Given the description of an element on the screen output the (x, y) to click on. 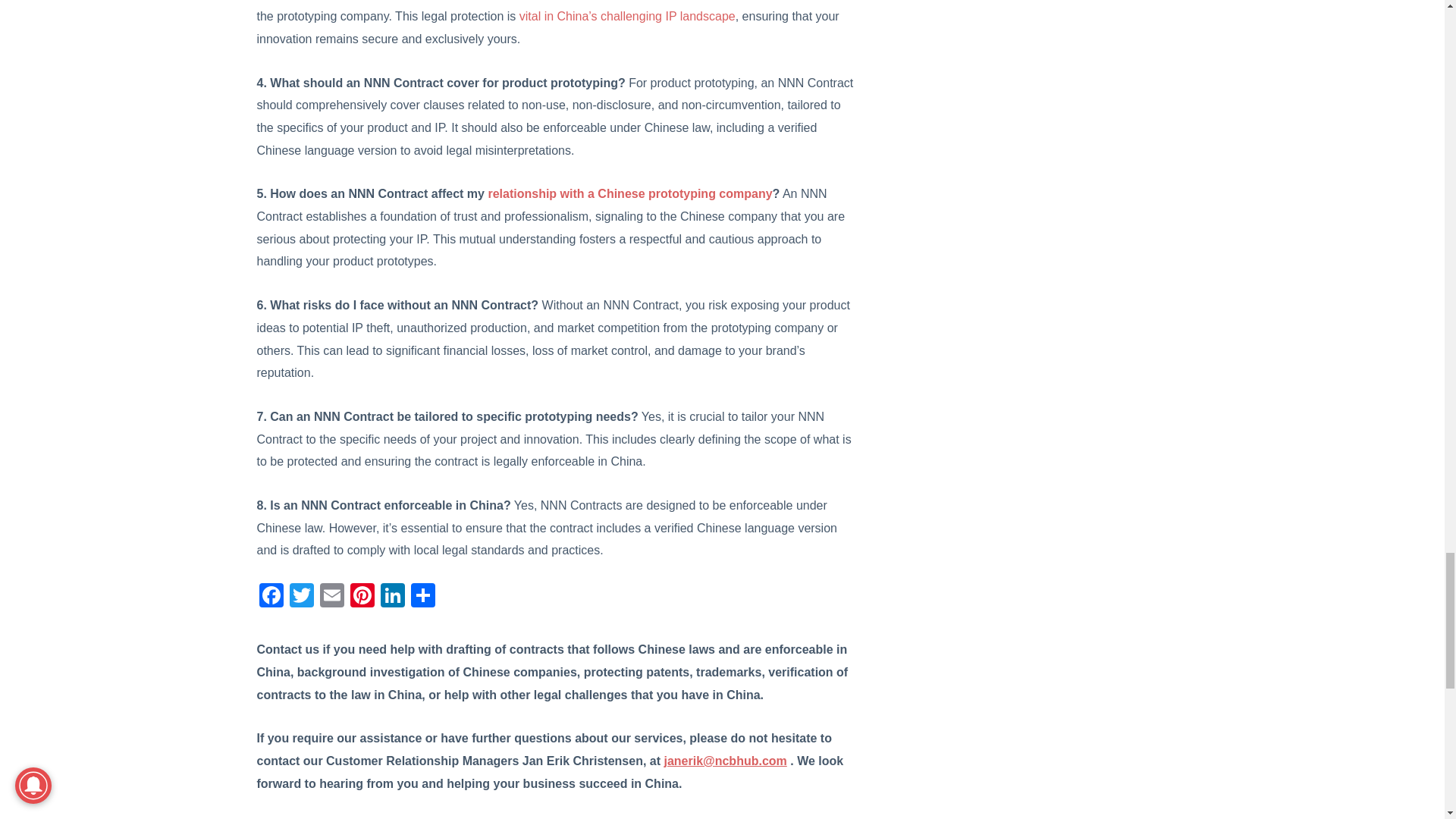
Facebook (271, 596)
